Given the description of an element on the screen output the (x, y) to click on. 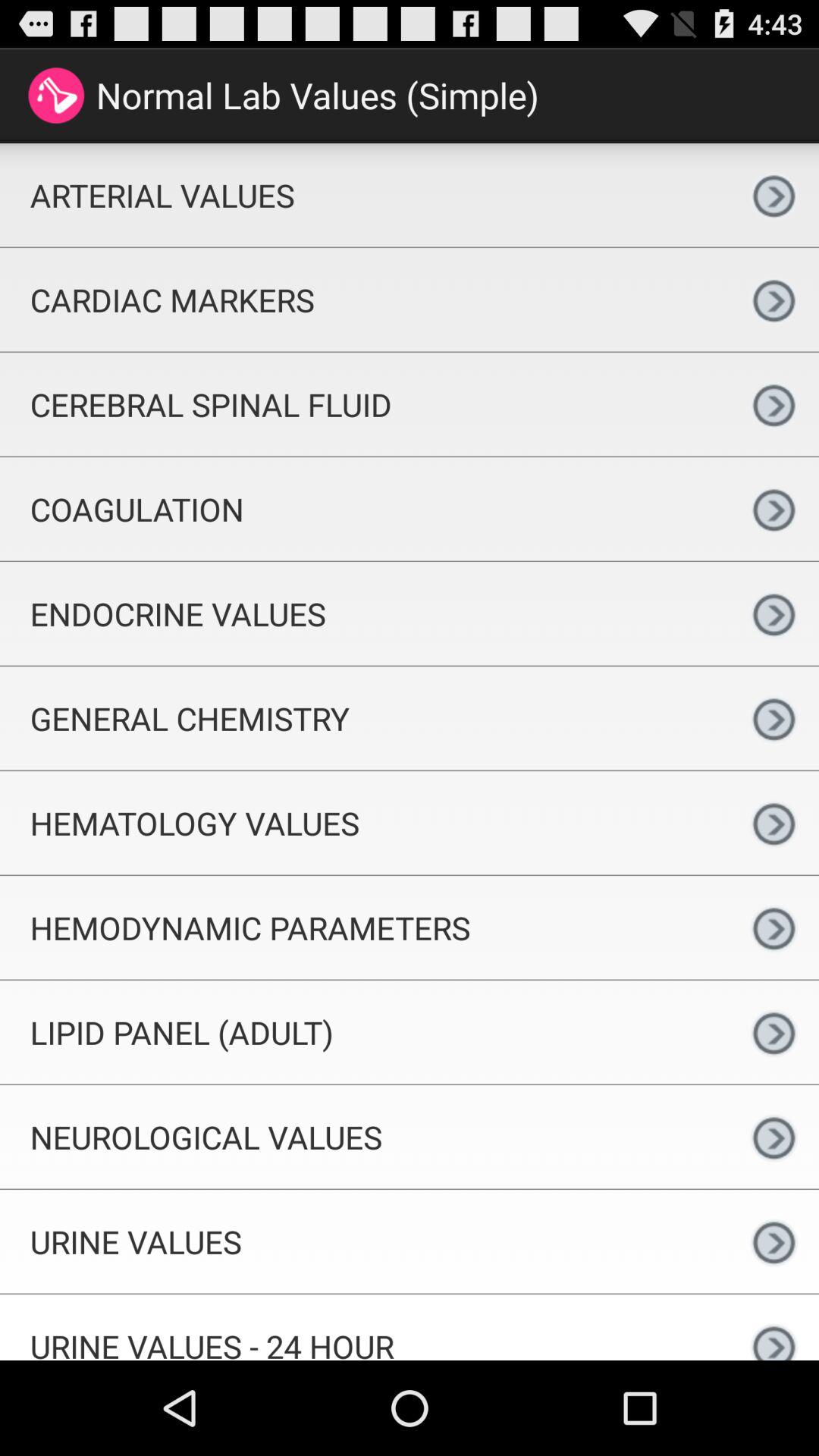
flip until cardiac markers item (364, 299)
